Given the description of an element on the screen output the (x, y) to click on. 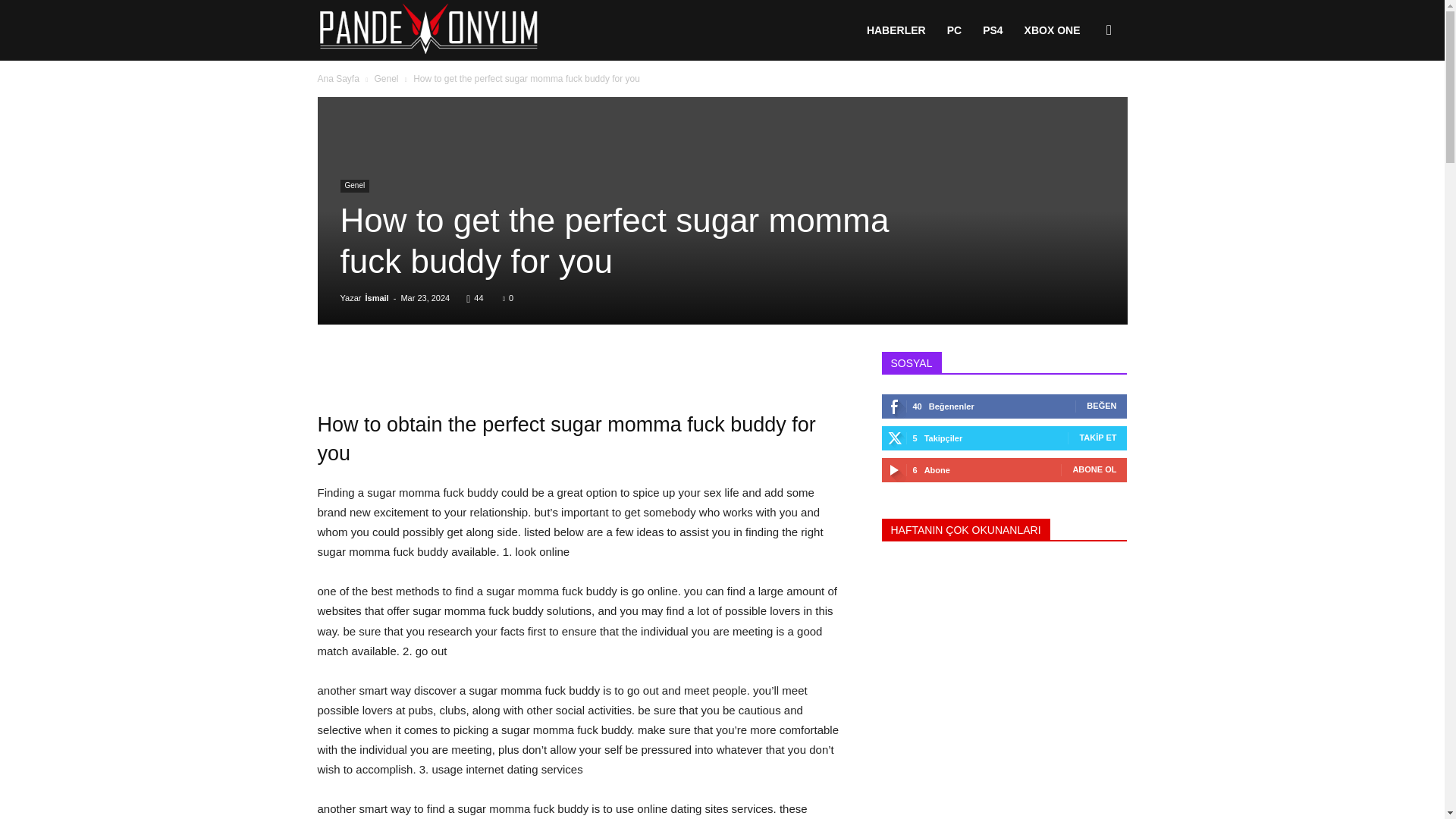
HABERLER (896, 30)
Ara (1086, 102)
Pandemonyum (428, 30)
